Given the description of an element on the screen output the (x, y) to click on. 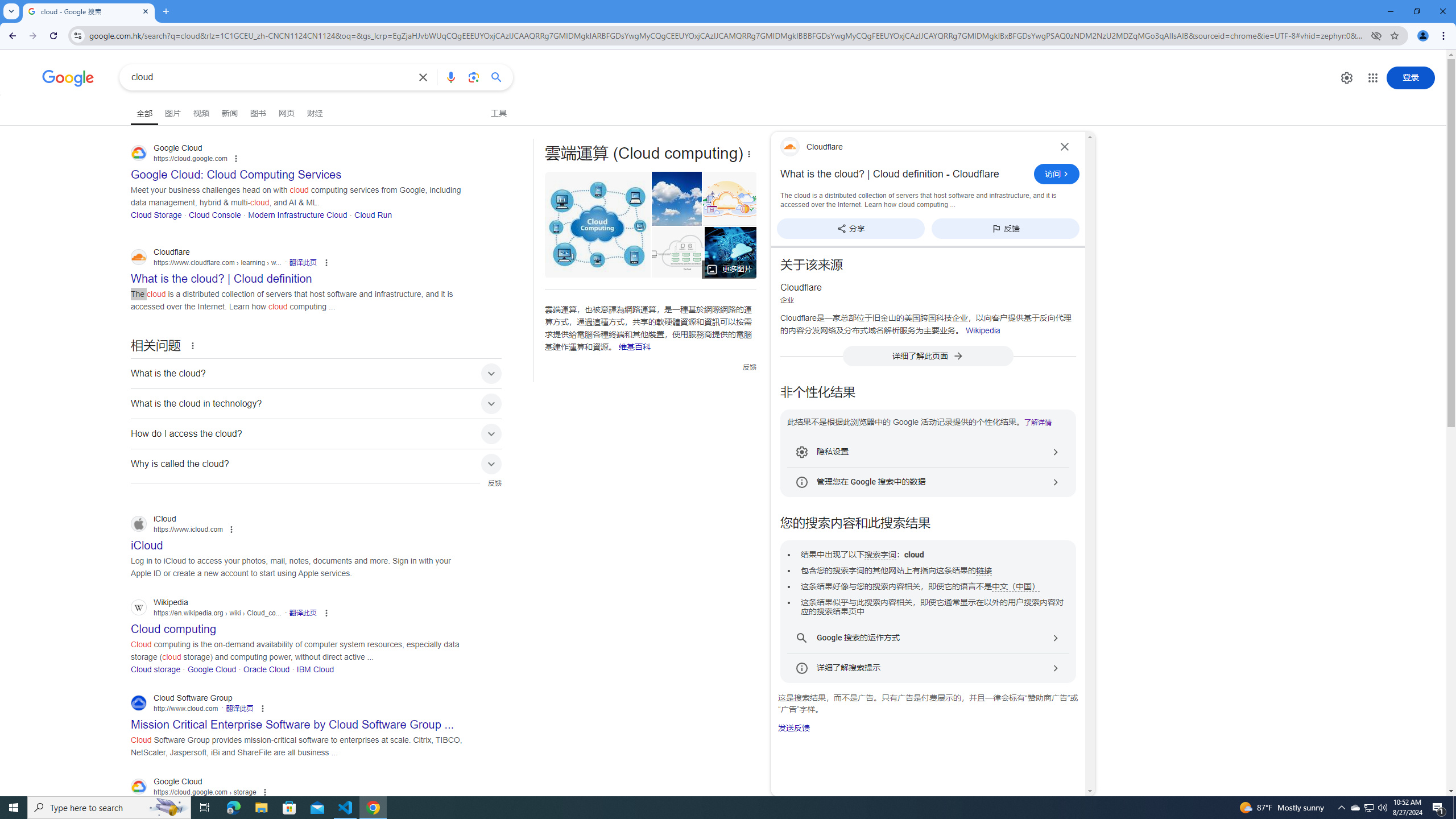
What is the cloud? | Cloud definition | Cloudflare (677, 251)
What is the cloud in technology? (316, 403)
Cloud Storage (156, 214)
 iCloud iCloud https://www.icloud.com (147, 541)
